Given the description of an element on the screen output the (x, y) to click on. 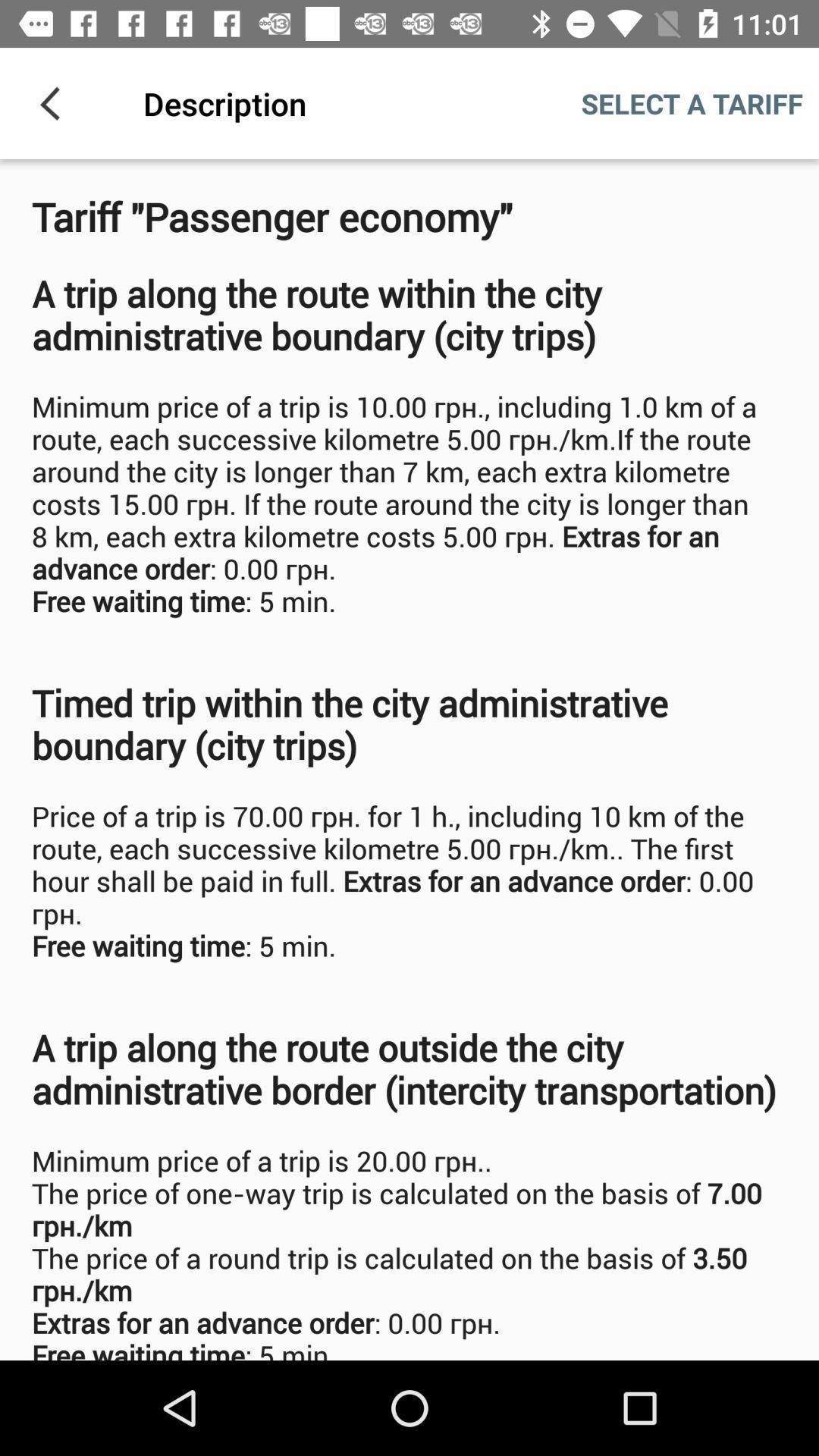
press the icon next to description item (55, 103)
